Given the description of an element on the screen output the (x, y) to click on. 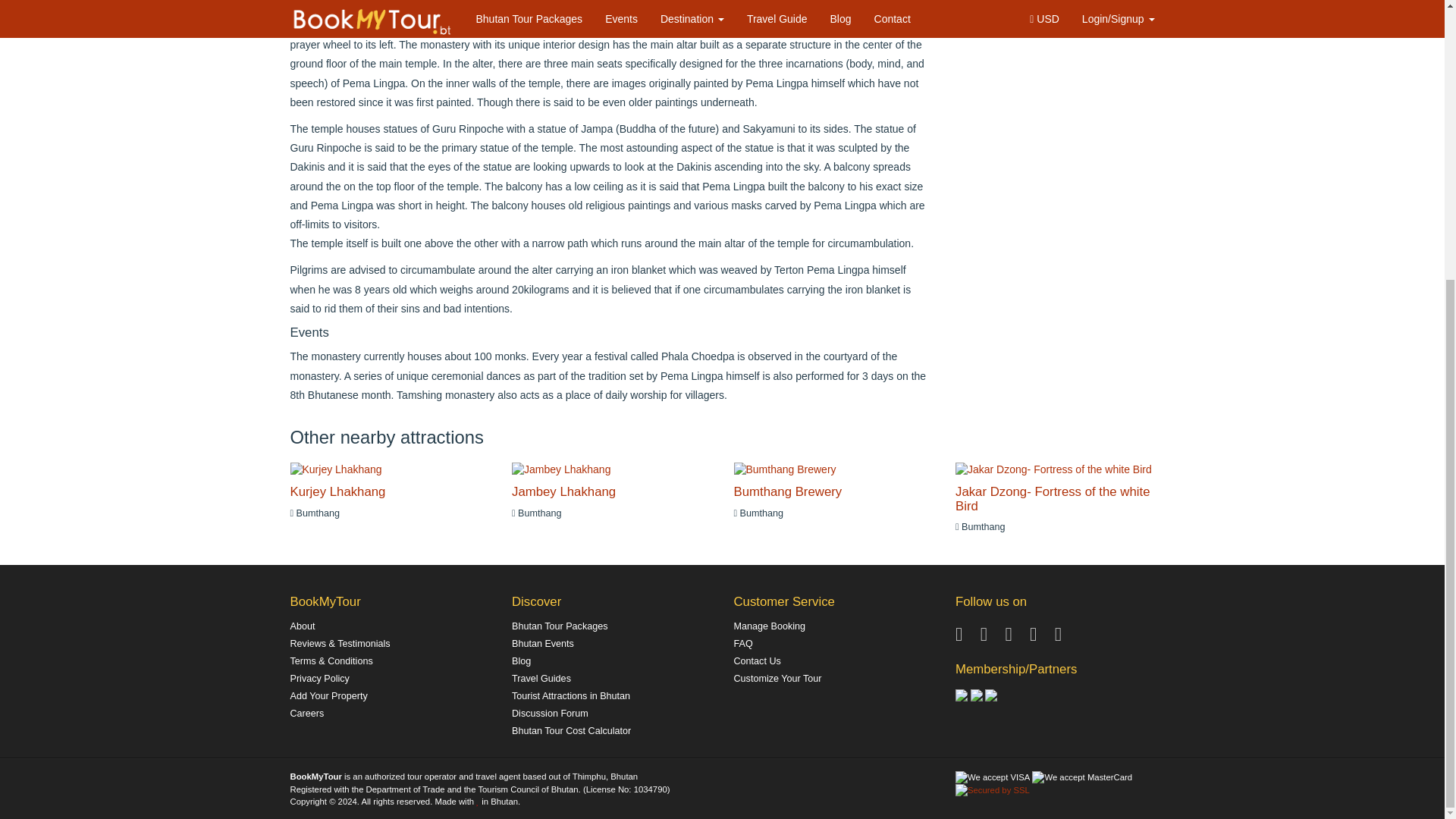
Tourism Council of Bhutan (961, 694)
Bhutan Airlines (991, 694)
DrukAir - Royal Bhutan Airlines (976, 694)
